Given the description of an element on the screen output the (x, y) to click on. 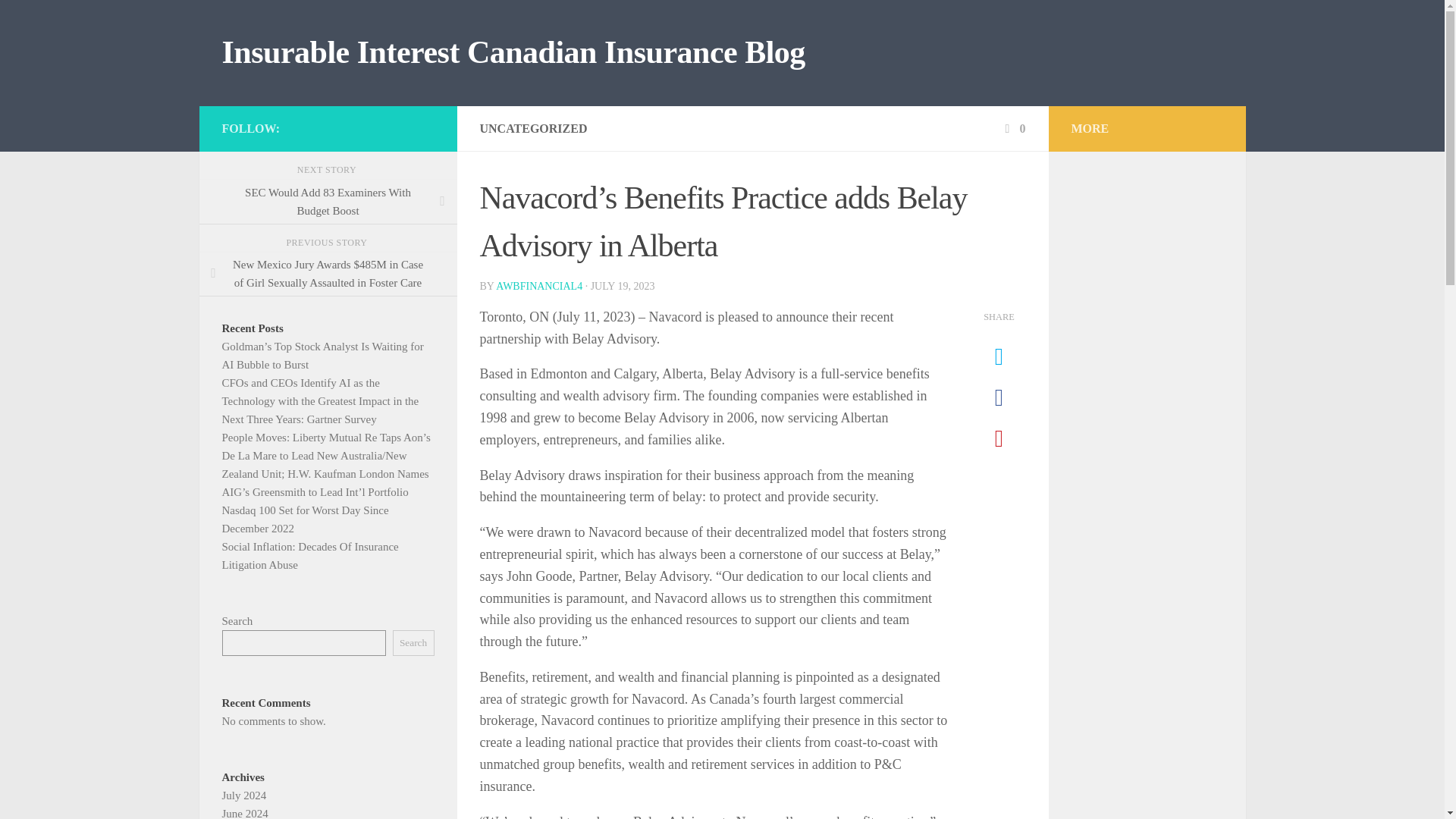
Nasdaq 100 Set for Worst Day Since December 2022 (304, 519)
Skip to content (59, 20)
July 2024 (243, 795)
Social Inflation: Decades Of Insurance Litigation Abuse (309, 555)
AWBFINANCIAL4 (539, 285)
Posts by awbfinancial4 (539, 285)
Insurable Interest Canadian Insurance Blog (513, 53)
Search (413, 642)
0 (1013, 128)
June 2024 (244, 813)
SEC Would Add 83 Examiners With Budget Boost (327, 201)
